Given the description of an element on the screen output the (x, y) to click on. 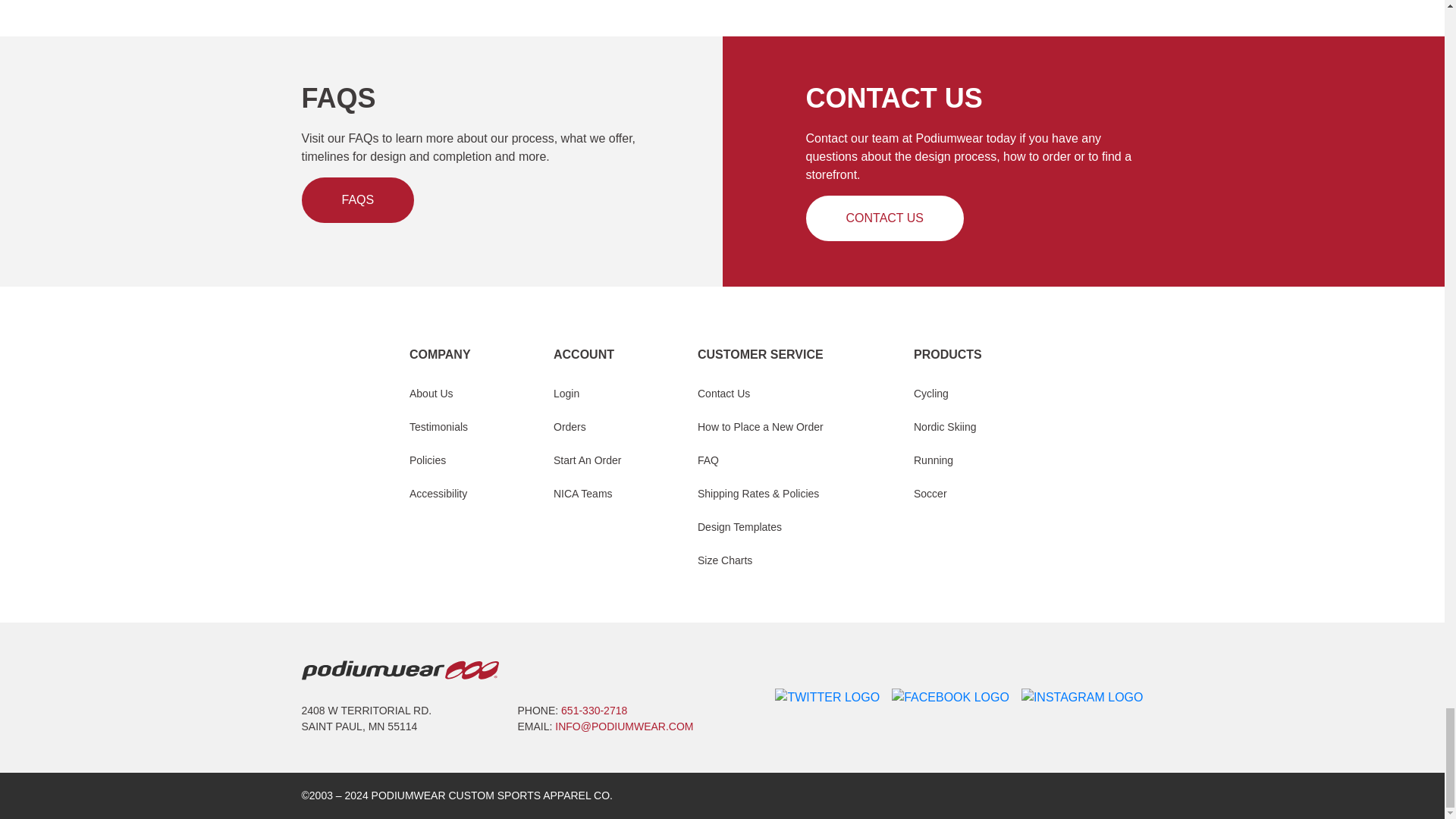
About Us (430, 393)
Testimonials (438, 426)
FAQS (357, 199)
CONTACT US (884, 217)
